Given the description of an element on the screen output the (x, y) to click on. 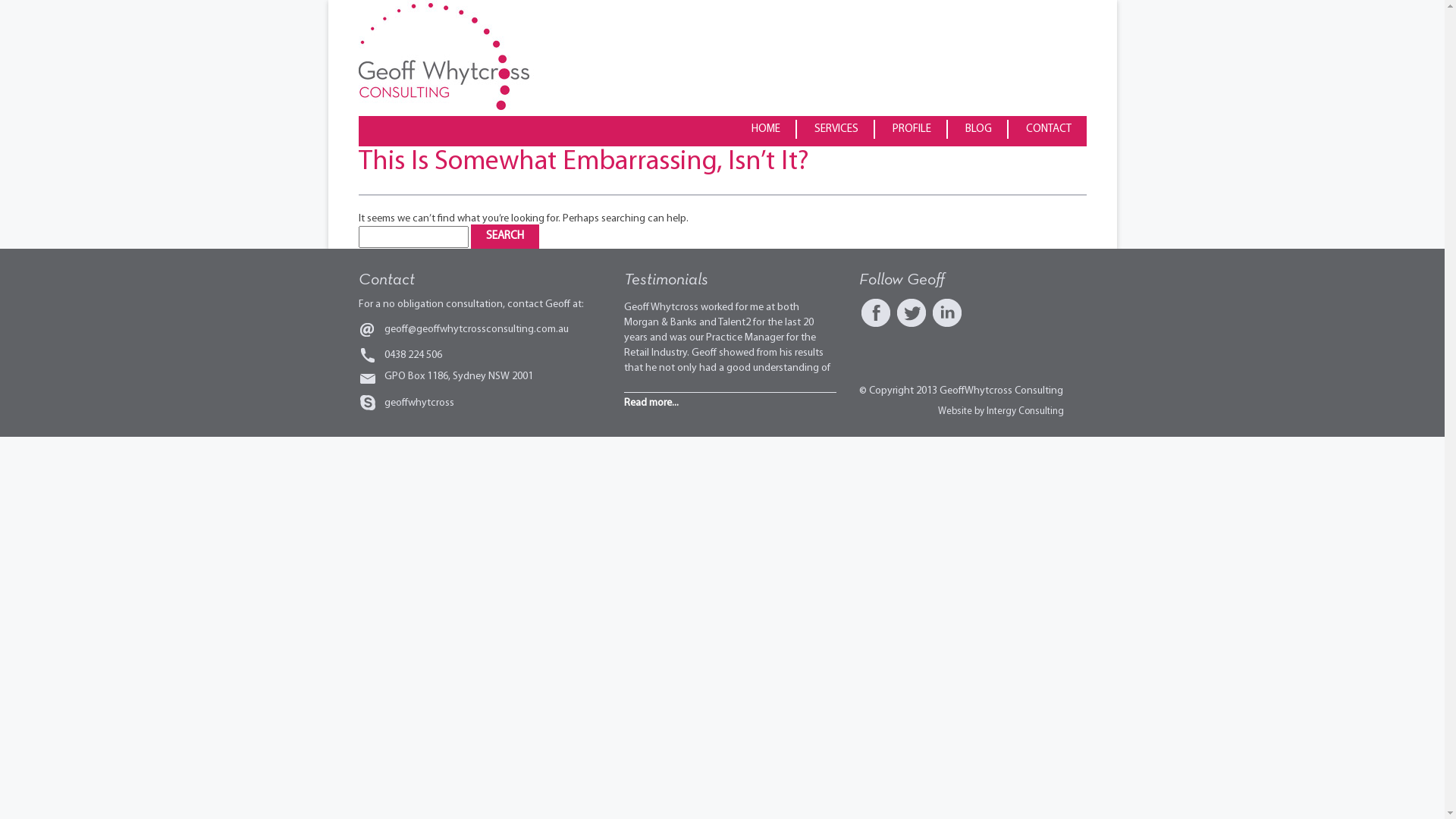
CONTACT Element type: text (1047, 128)
LinkedIn Element type: text (946, 313)
Facebook Element type: text (874, 313)
Search Element type: text (504, 235)
Skip to content Element type: text (391, 121)
HOME Element type: text (765, 128)
BLOG Element type: text (978, 128)
geoff@geoffwhytcrossconsulting.com.au Element type: text (475, 329)
Intergy Consulting Element type: text (1024, 411)
PROFILE Element type: text (911, 128)
Twitter Element type: text (911, 313)
Read more... Element type: text (650, 402)
SERVICES Element type: text (837, 128)
